Given the description of an element on the screen output the (x, y) to click on. 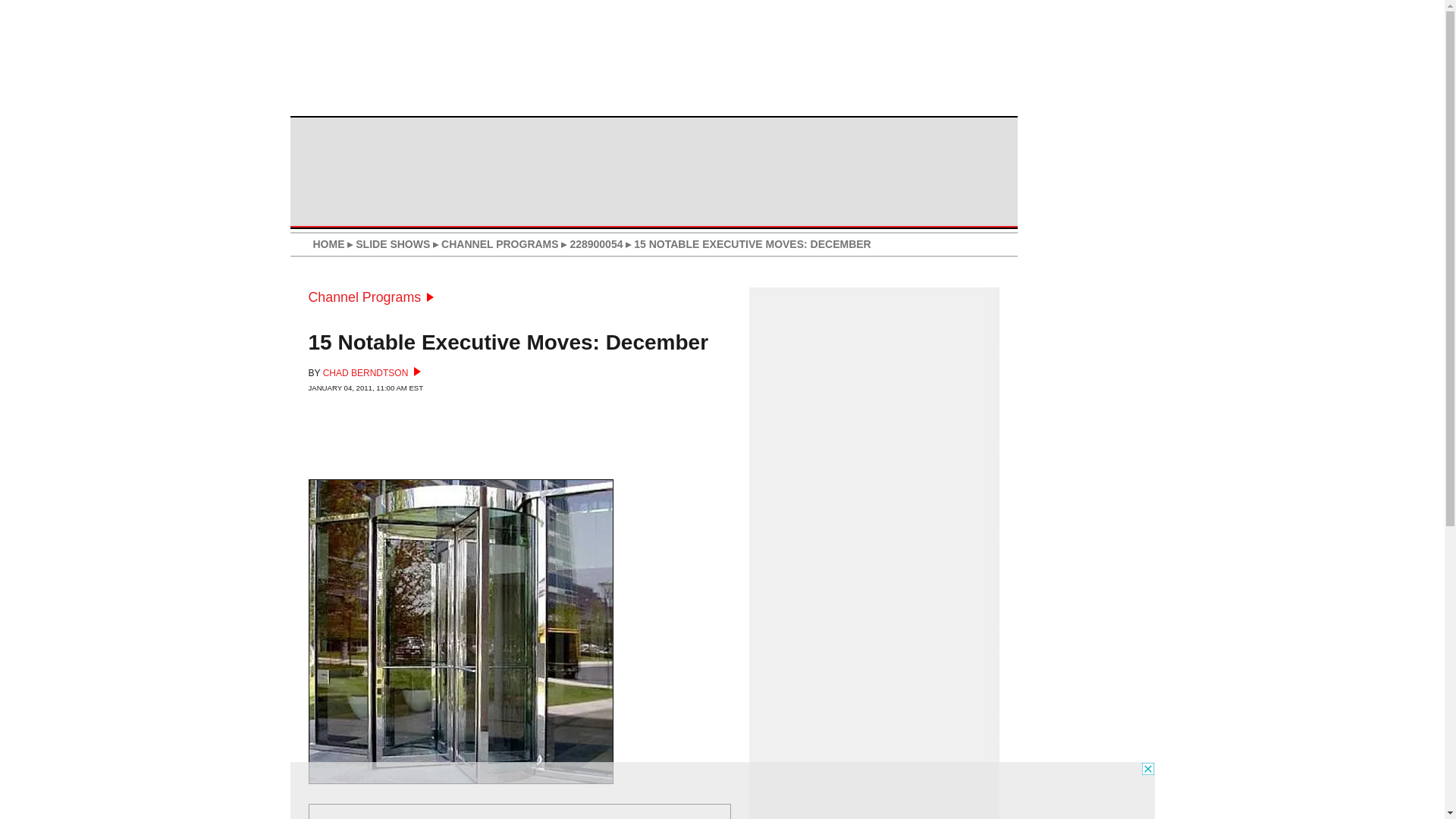
HOME (328, 244)
CHAD BERNDTSON (372, 372)
Channel Programs (370, 296)
Channel Programs (370, 296)
